Given the description of an element on the screen output the (x, y) to click on. 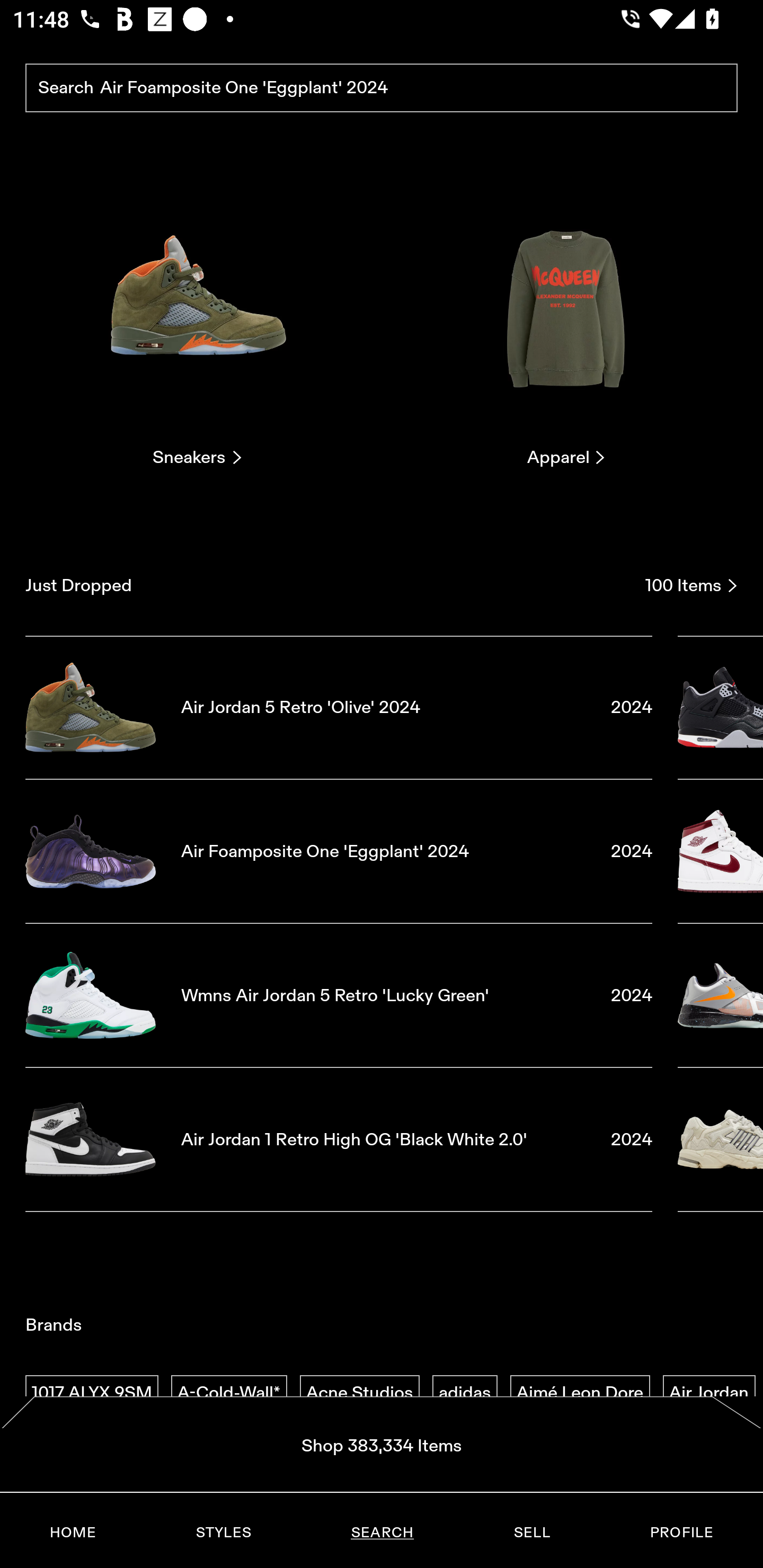
Search (381, 88)
Sneakers (196, 323)
Apparel (565, 323)
Just Dropped (328, 585)
100 Items (691, 585)
Air Jordan 5 Retro 'Olive' 2024 2024 (338, 707)
Air Foamposite One 'Eggplant' 2024 2024 (338, 851)
Wmns Air Jordan 5 Retro 'Lucky Green' 2024 (338, 995)
Air Jordan 1 Retro High OG 'Black White 2.0' 2024 (338, 1139)
1017 ALYX 9SM (91, 1393)
A-Cold-Wall* (228, 1393)
Acne Studios (359, 1393)
adidas (464, 1393)
Aimé Leon Dore (580, 1393)
Air Jordan (709, 1393)
HOME (72, 1532)
STYLES (222, 1532)
SEARCH (381, 1532)
SELL (531, 1532)
PROFILE (681, 1532)
